Given the description of an element on the screen output the (x, y) to click on. 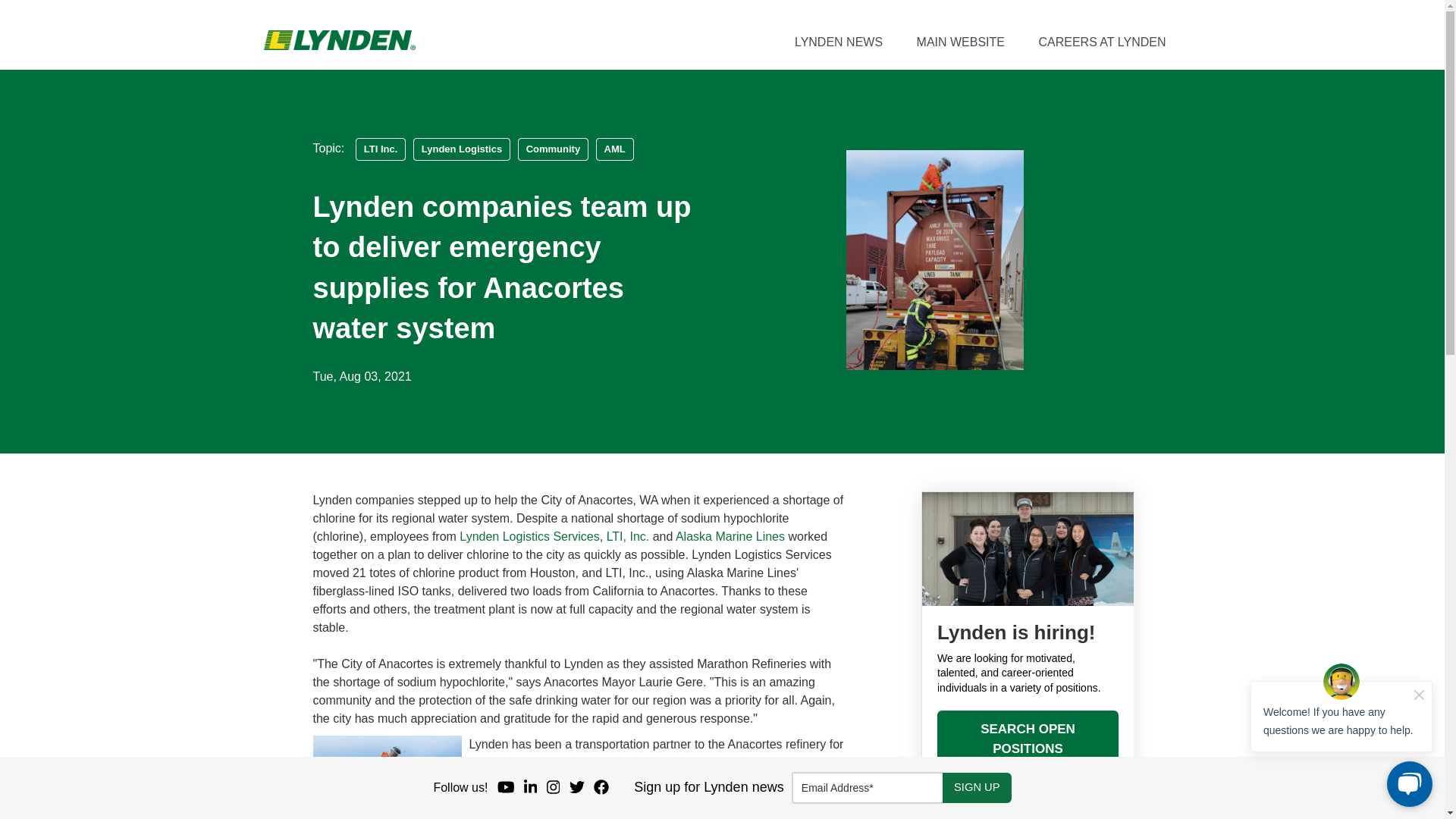
MAIN WEBSITE (960, 42)
lynden-logo (338, 39)
SIGN UP (976, 788)
Community (553, 149)
LTI, Inc. (628, 535)
Lynden Logistics Services (529, 535)
LYNDEN NEWS (838, 42)
Lynden Logistics (462, 149)
Alaska Marine Lines (729, 535)
AML (614, 149)
SIGN UP (976, 788)
LTI Inc. (380, 149)
CAREERS AT LYNDEN (1102, 42)
SEARCH OPEN POSITIONS (1027, 738)
